Given the description of an element on the screen output the (x, y) to click on. 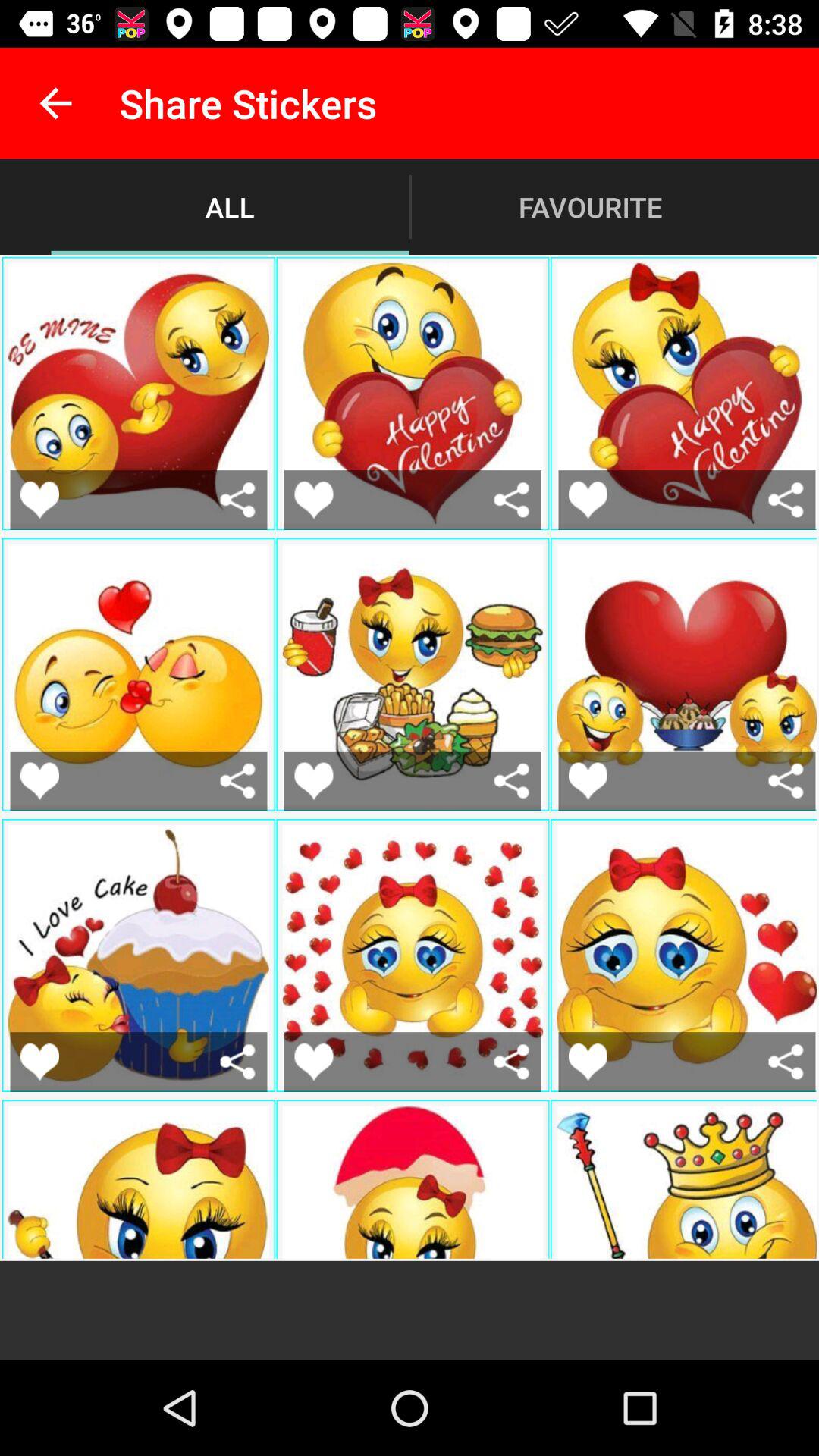
like this sticker (313, 499)
